Given the description of an element on the screen output the (x, y) to click on. 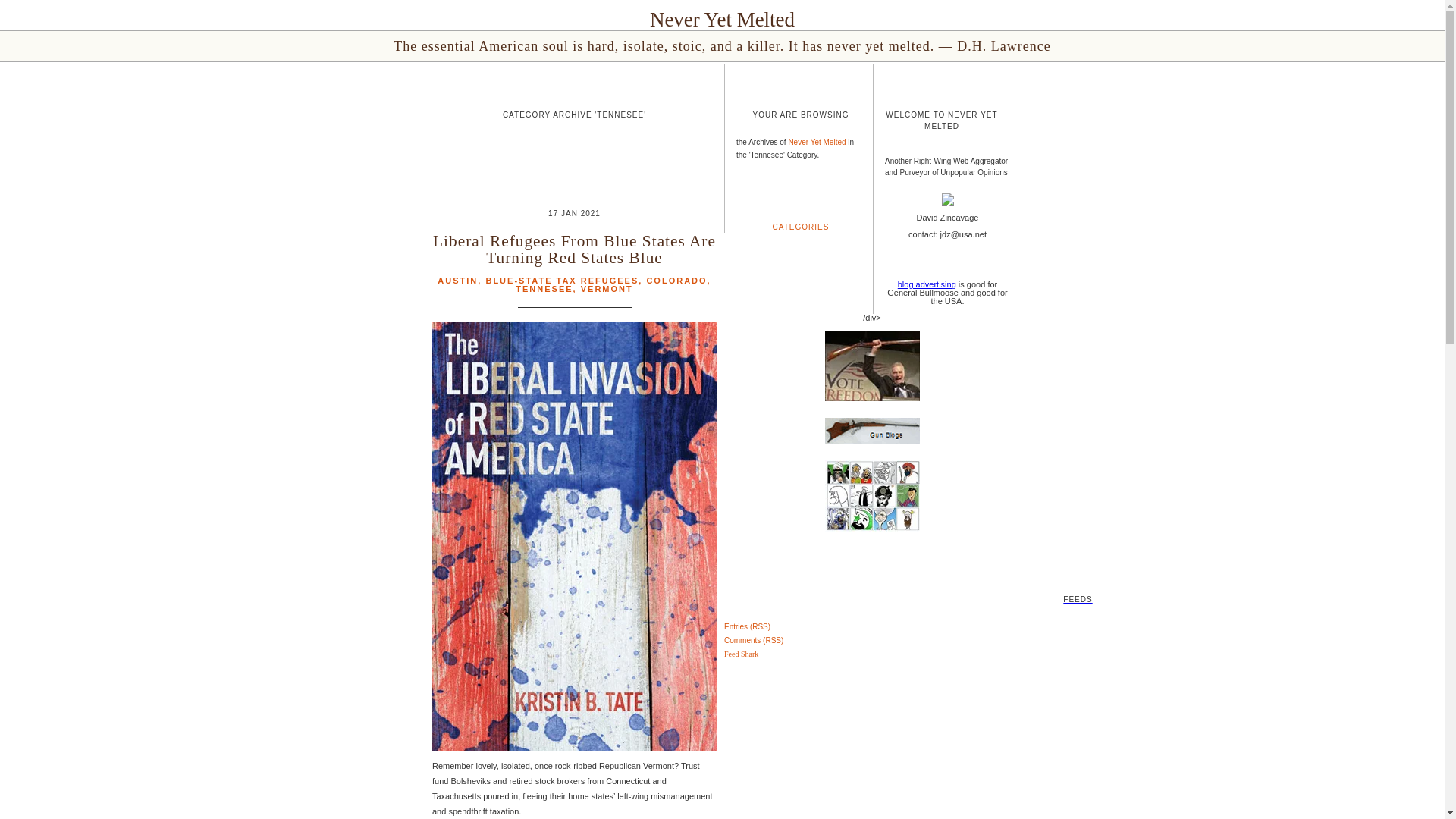
AUSTIN (457, 280)
COLORADO (676, 280)
Never Yet Melted (721, 19)
VERMONT (606, 288)
blog advertising (927, 284)
BLUE-STATE TAX REFUGEES (561, 280)
Feed Shark (740, 654)
CATEGORIES (801, 226)
TENNESEE (543, 288)
Never Yet Melted (816, 142)
FEEDS (721, 576)
